Given the description of an element on the screen output the (x, y) to click on. 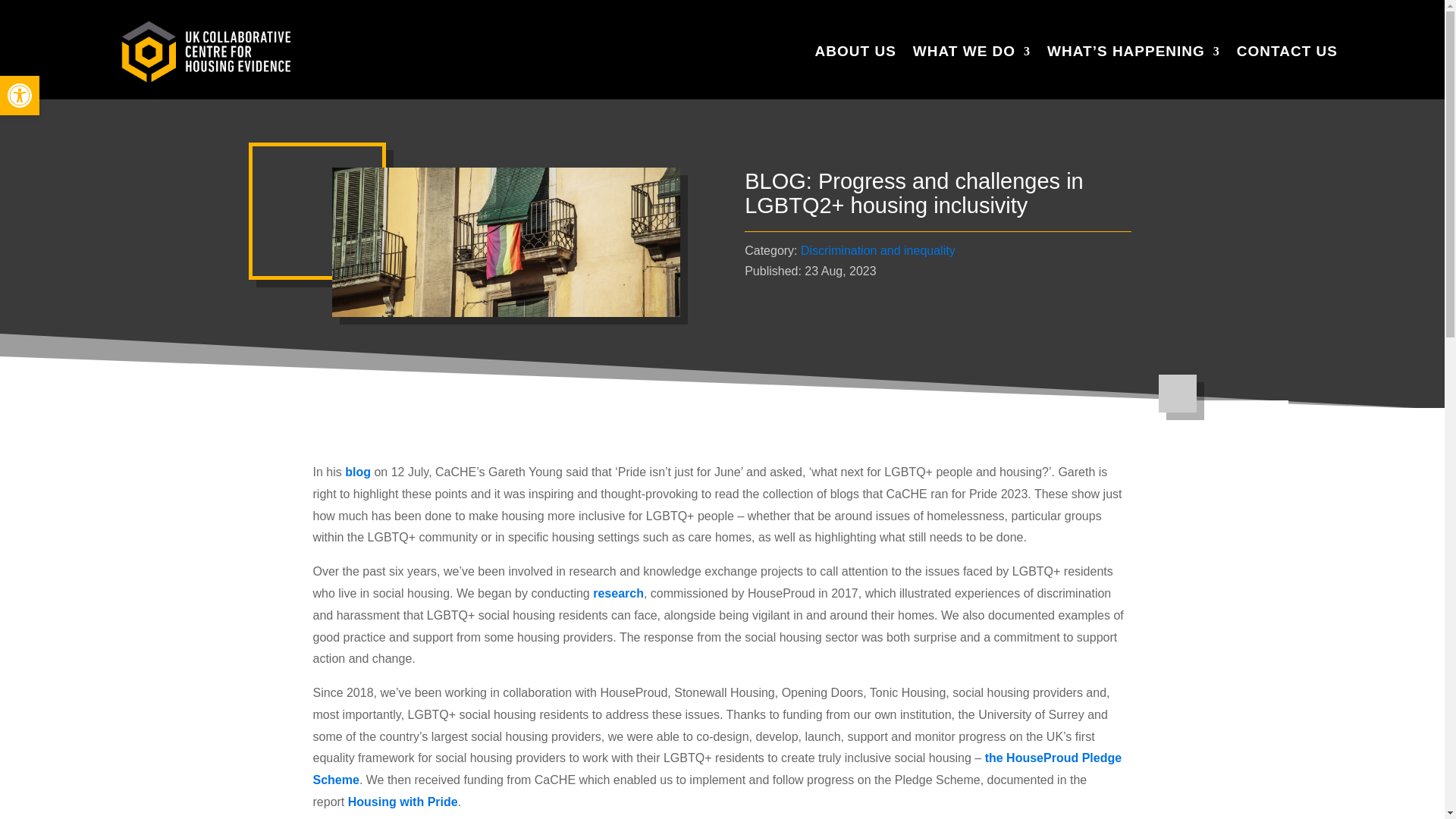
Housing with Pride (402, 801)
blog (358, 472)
CONTACT US (19, 95)
the HouseProud Pledge Scheme (1287, 51)
research (717, 768)
Accessibility Tools (617, 593)
WHAT WE DO (19, 95)
Accessibility Tools (971, 51)
ABOUT US (19, 95)
Discrimination and inequality (855, 51)
